Given the description of an element on the screen output the (x, y) to click on. 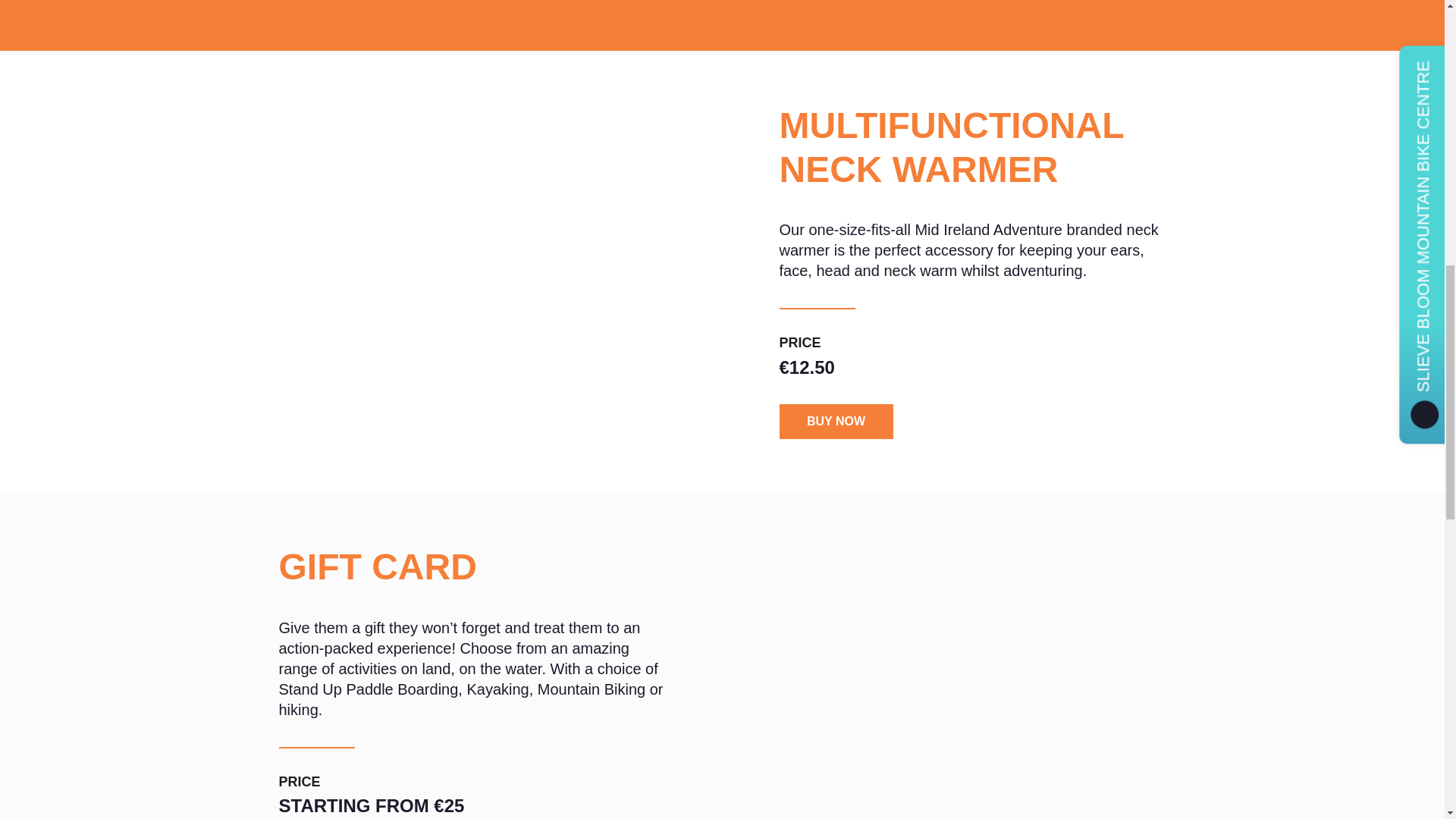
BUY NOW (835, 421)
